Given the description of an element on the screen output the (x, y) to click on. 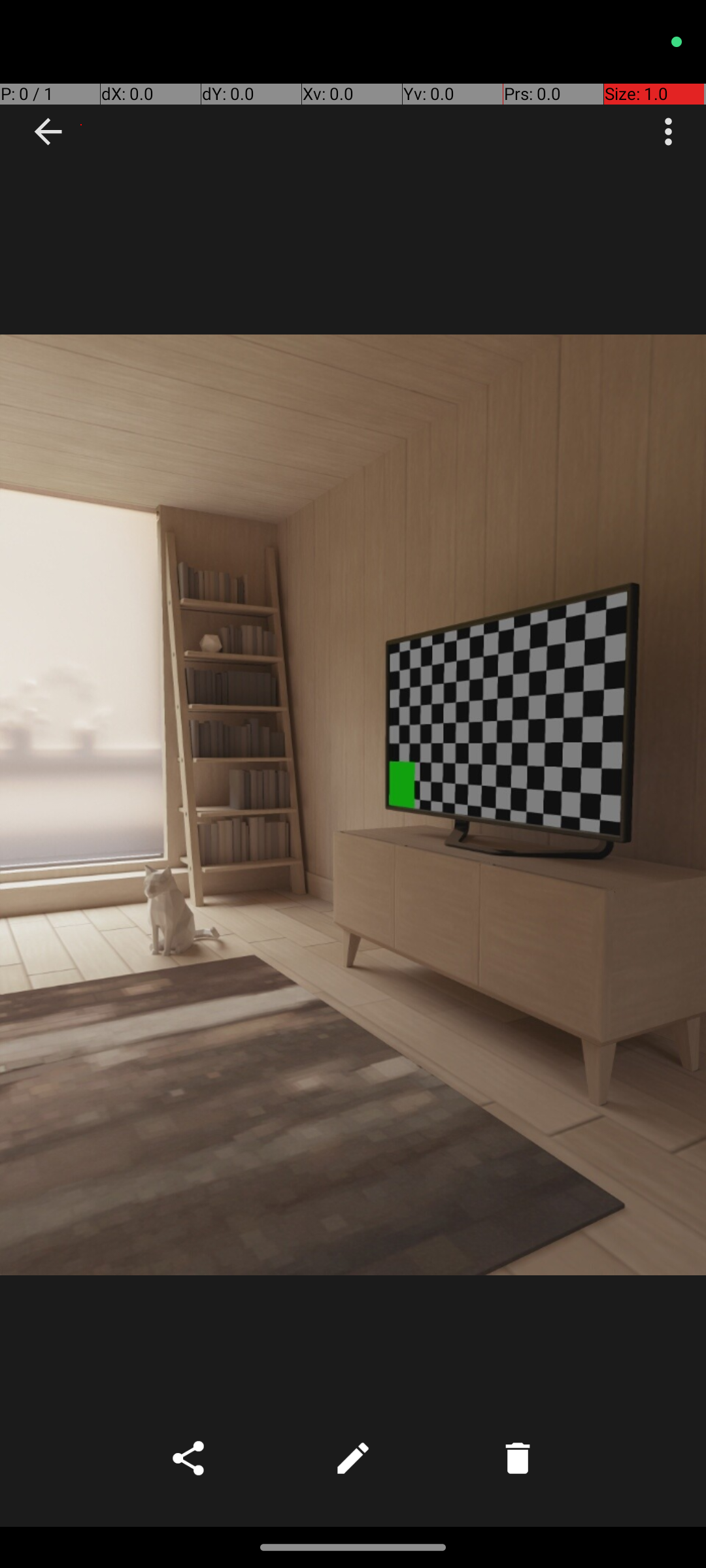
Photo taken on Oct 15, 2023 15:34:17 Element type: android.widget.ImageView (353, 804)
